Given the description of an element on the screen output the (x, y) to click on. 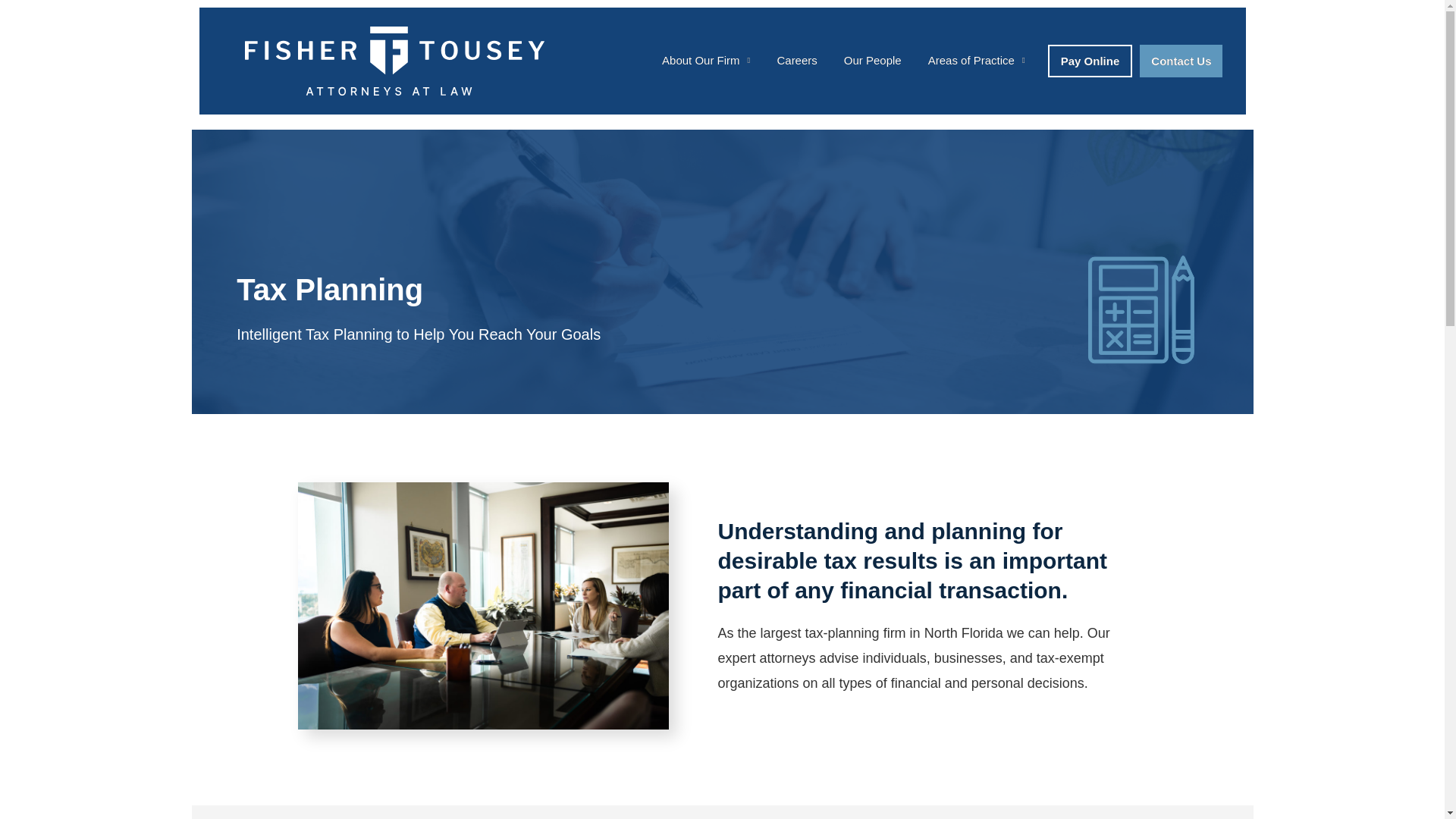
About Our Firm (706, 60)
Areas of Practice (976, 60)
Pay Online (1090, 60)
Our People (872, 60)
Contact Us (1181, 60)
Careers (797, 60)
